Given the description of an element on the screen output the (x, y) to click on. 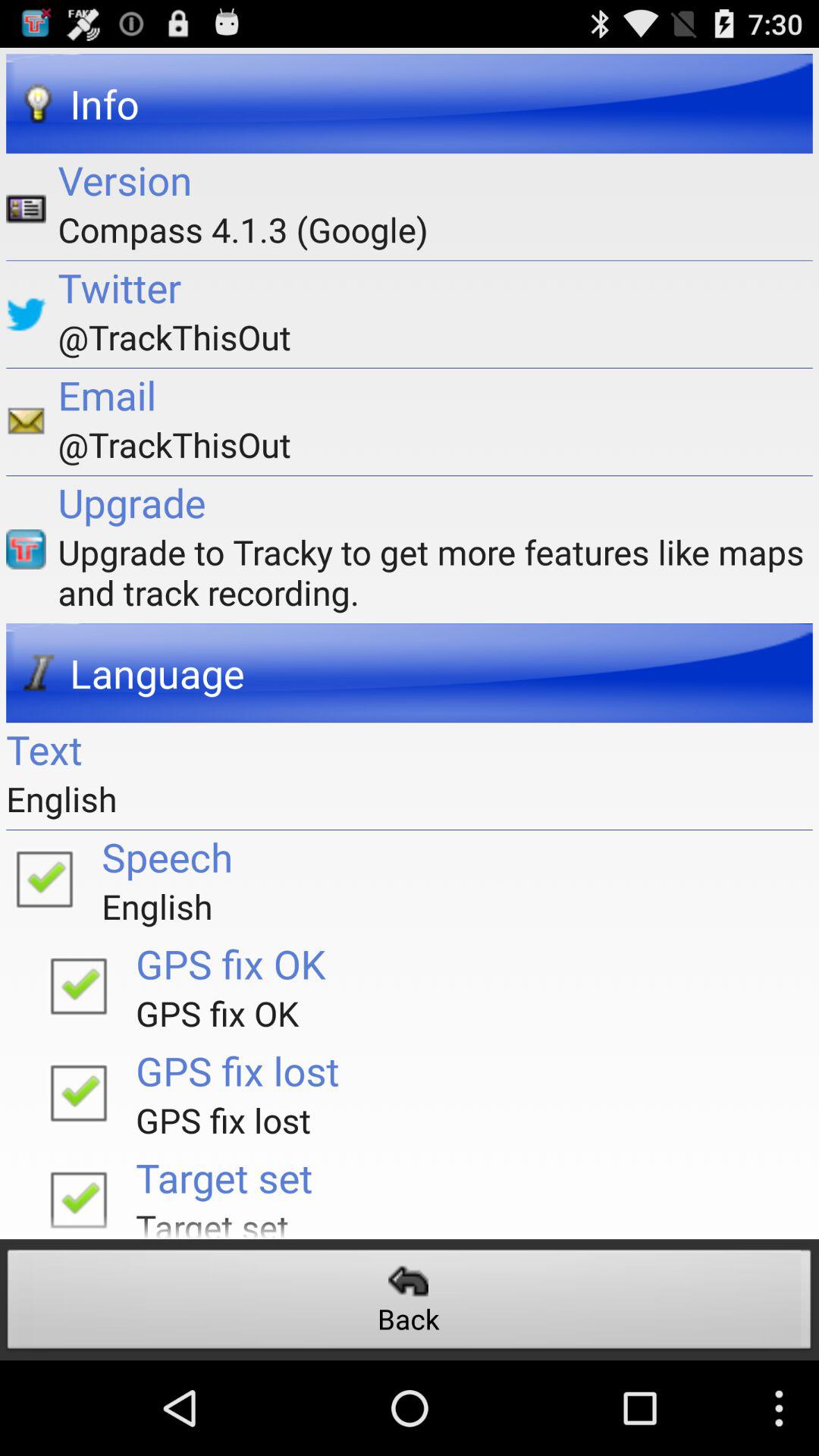
toggle speech option (43, 877)
